Given the description of an element on the screen output the (x, y) to click on. 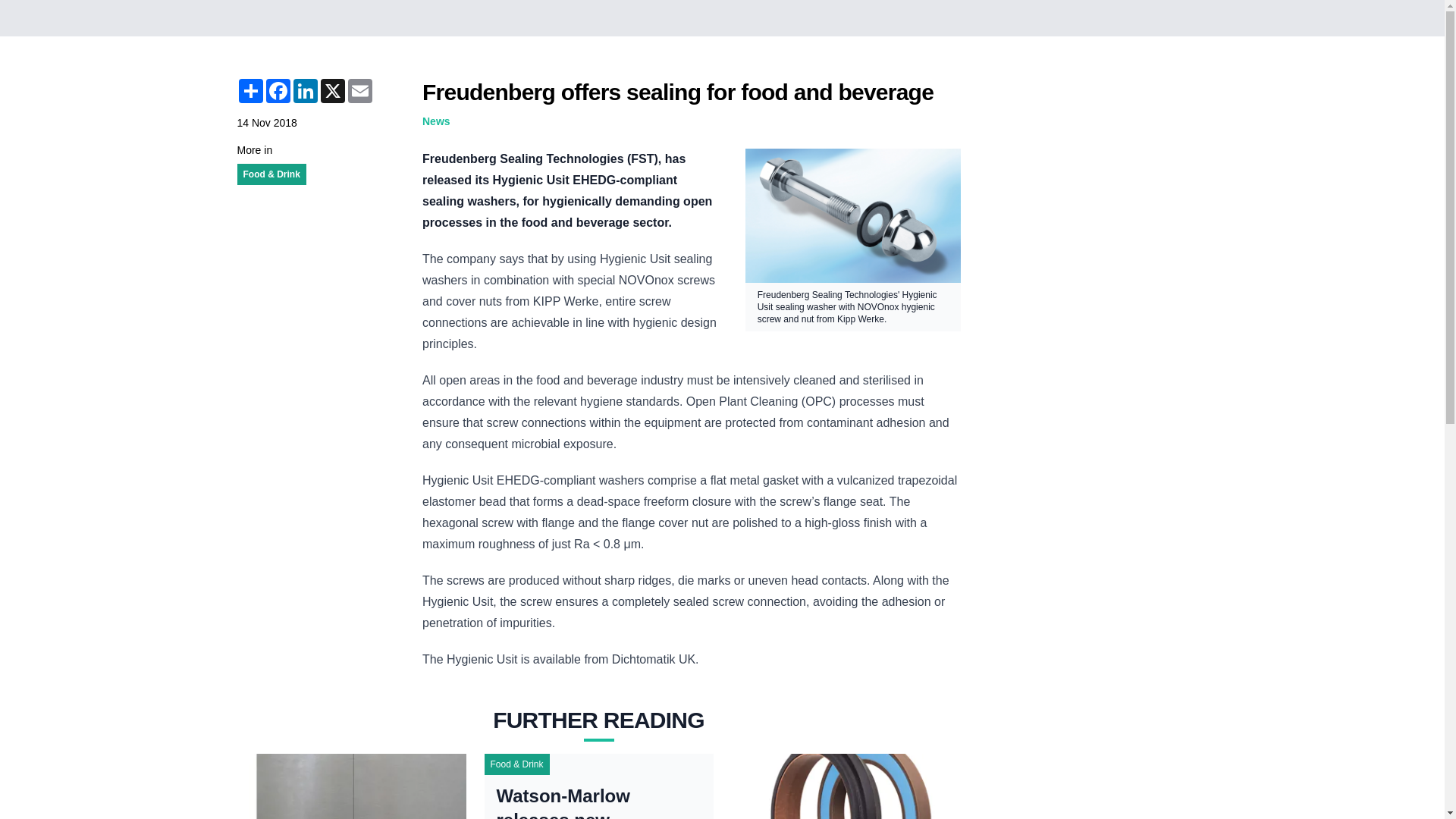
LinkedIn (304, 90)
Facebook (277, 90)
X (332, 90)
Email (359, 90)
